Given the description of an element on the screen output the (x, y) to click on. 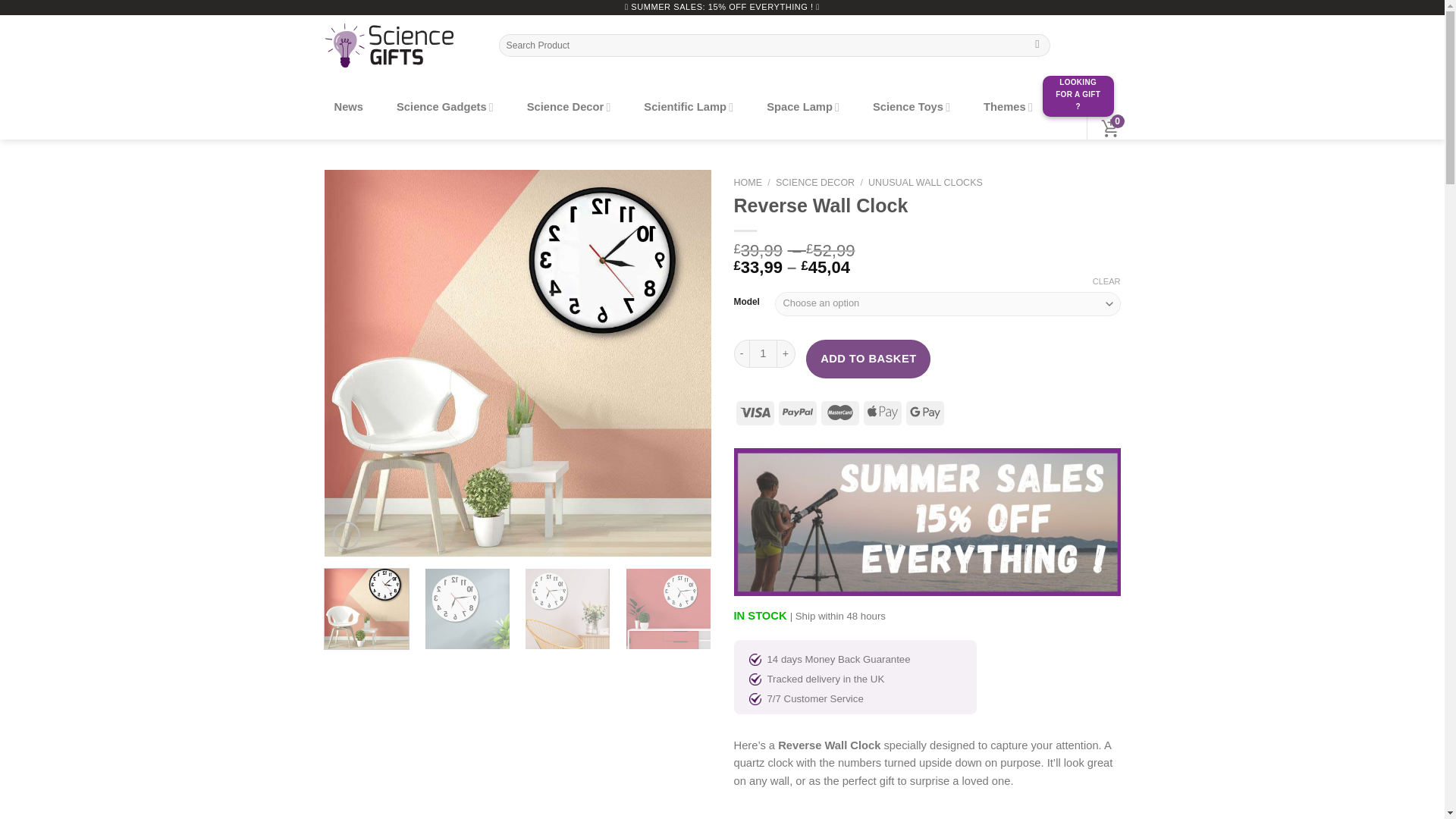
Scientific Lamp (687, 107)
Search (1037, 44)
Space Lamp (802, 107)
1 (763, 353)
News (349, 107)
Science Gadgets (445, 107)
Zoom (346, 534)
Science Decor (568, 107)
